Given the description of an element on the screen output the (x, y) to click on. 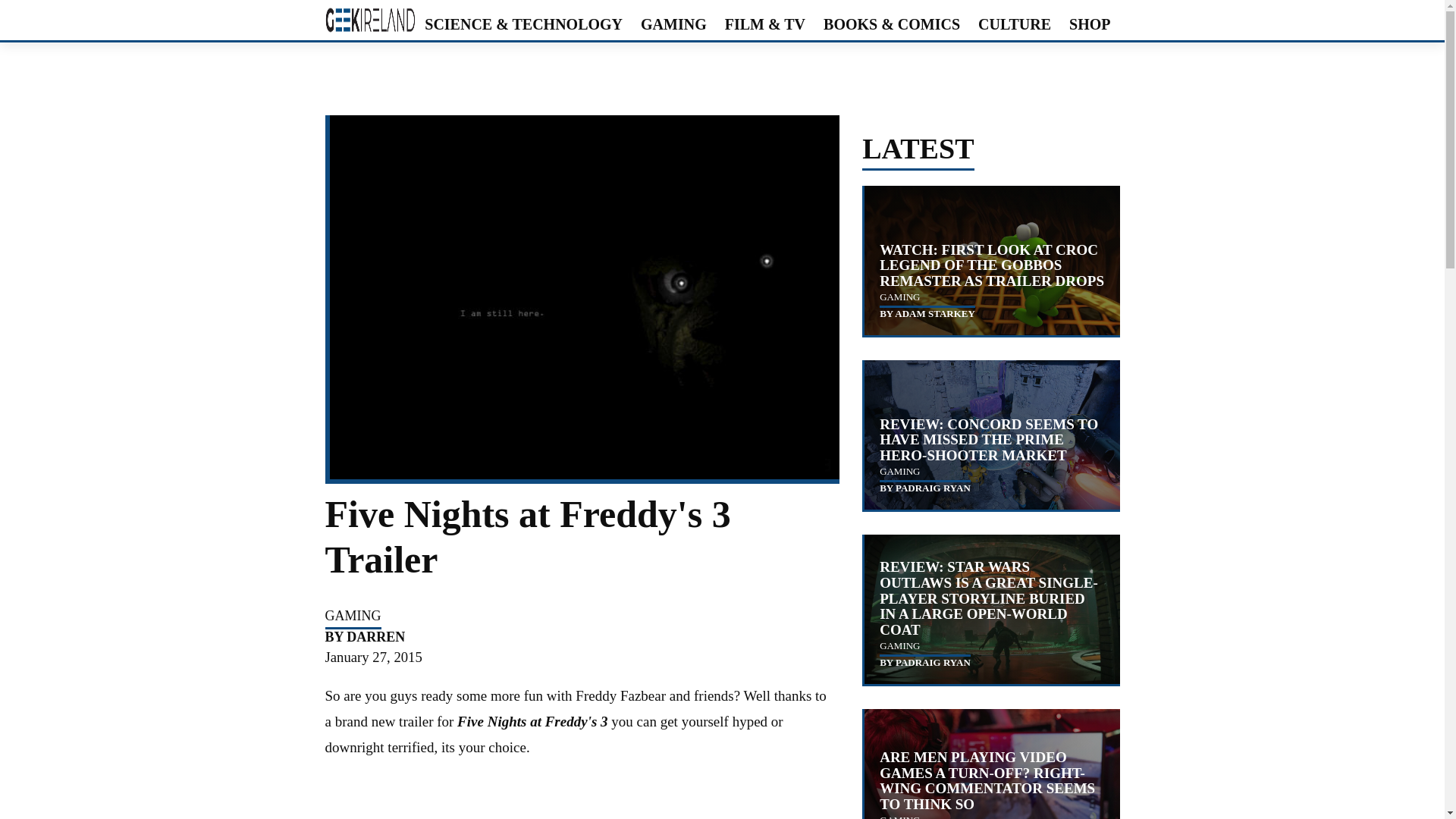
Five Nights at Freddy's 3 Teaser Trailer (578, 798)
BY DARREN (364, 637)
CULTURE (1014, 23)
GAMING (352, 615)
GAMING (673, 23)
GAMING (899, 296)
SHOP (1089, 23)
